Given the description of an element on the screen output the (x, y) to click on. 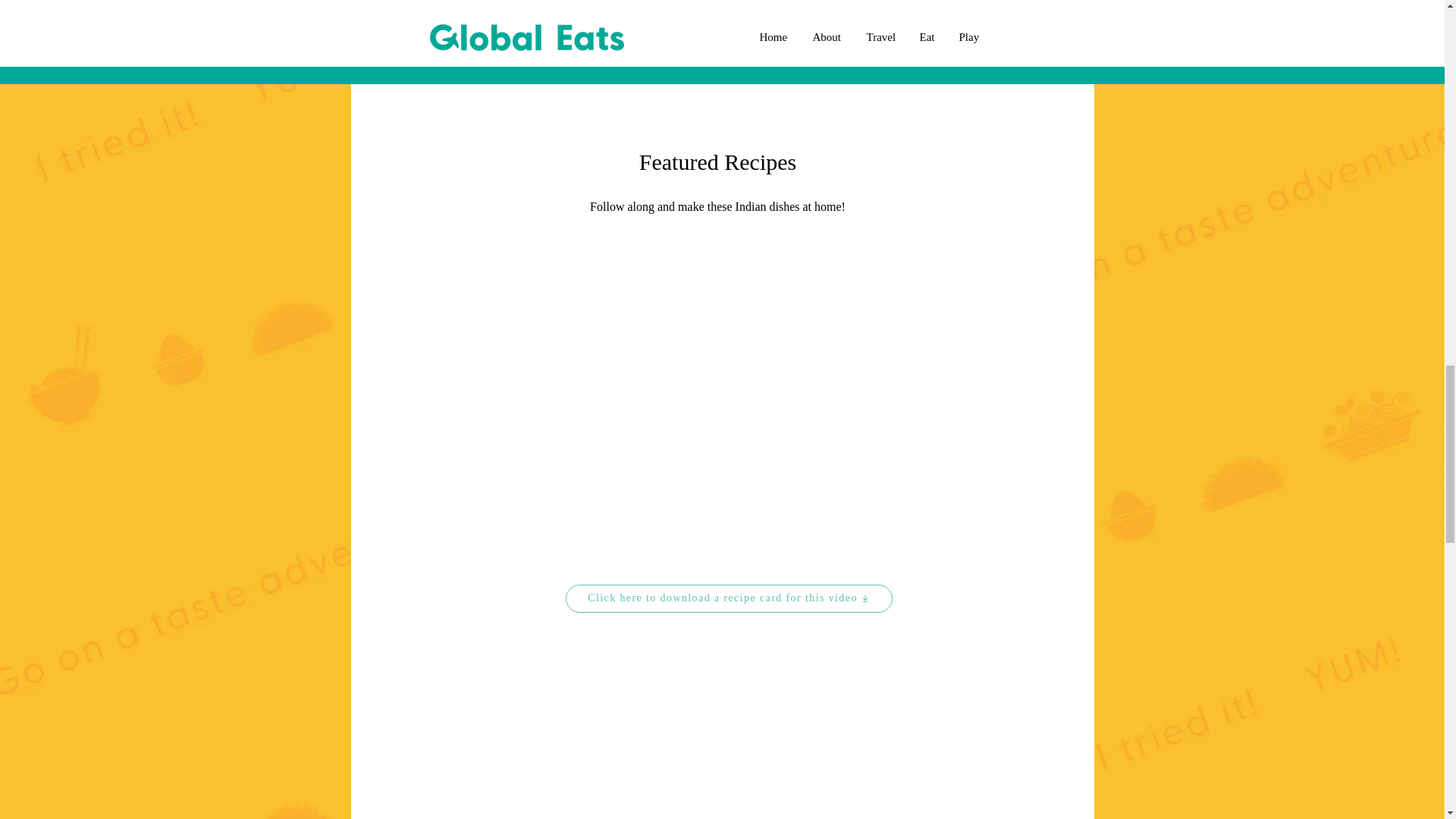
Click here to download a recipe card for this video (729, 598)
